Given the description of an element on the screen output the (x, y) to click on. 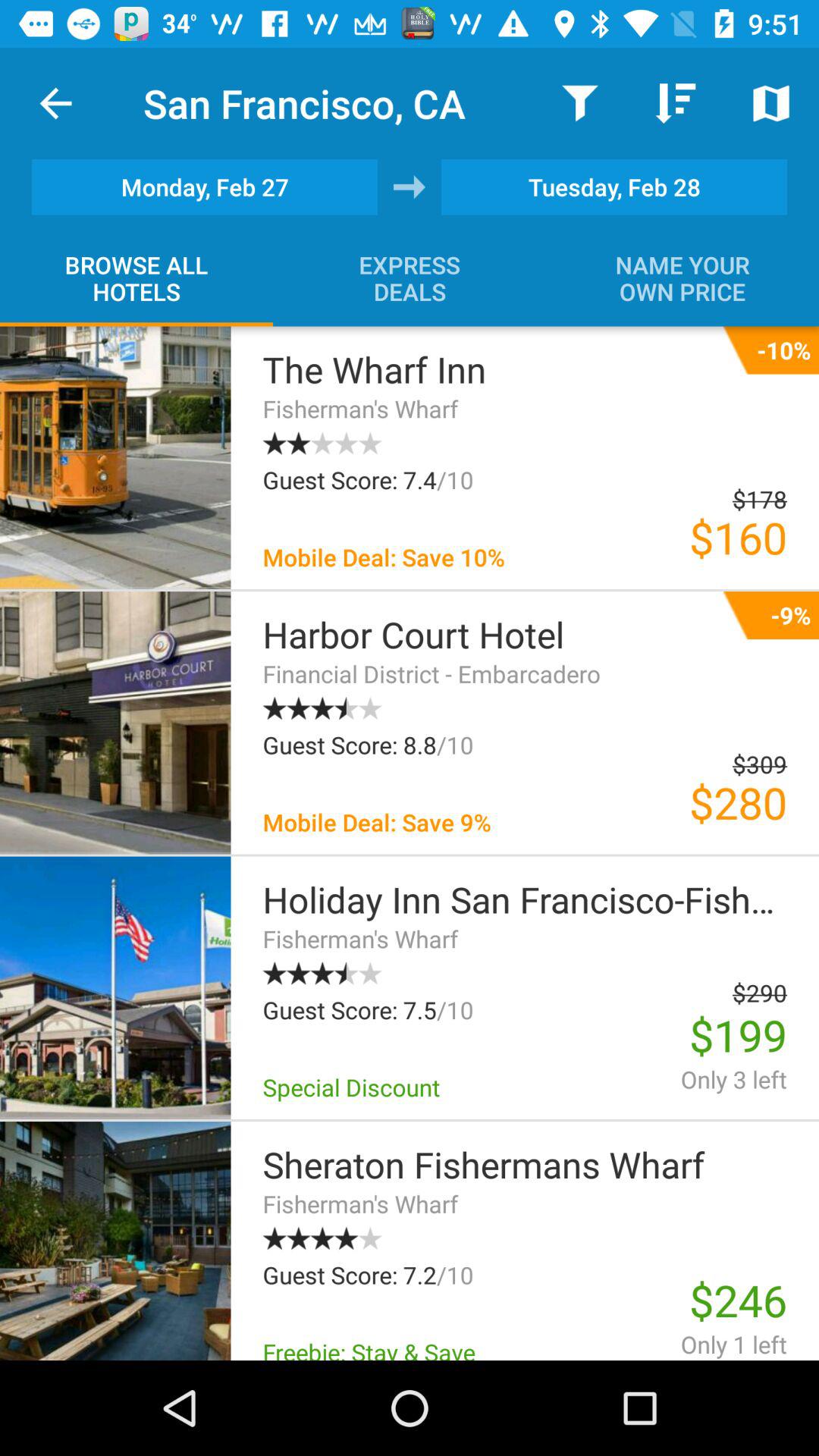
tap item above tuesday, feb 28 icon (771, 103)
